Given the description of an element on the screen output the (x, y) to click on. 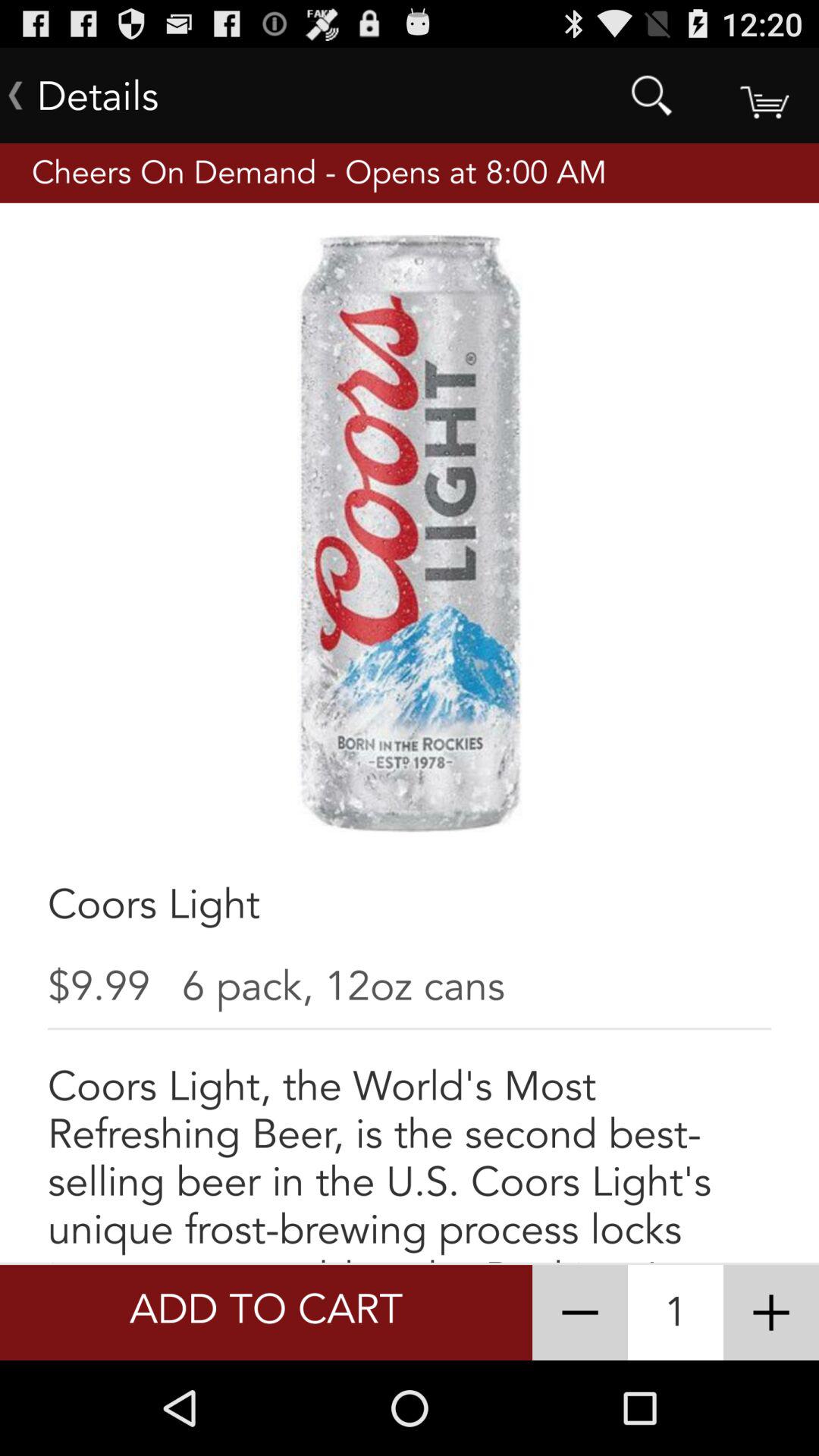
add one more of the same order (771, 1312)
